Given the description of an element on the screen output the (x, y) to click on. 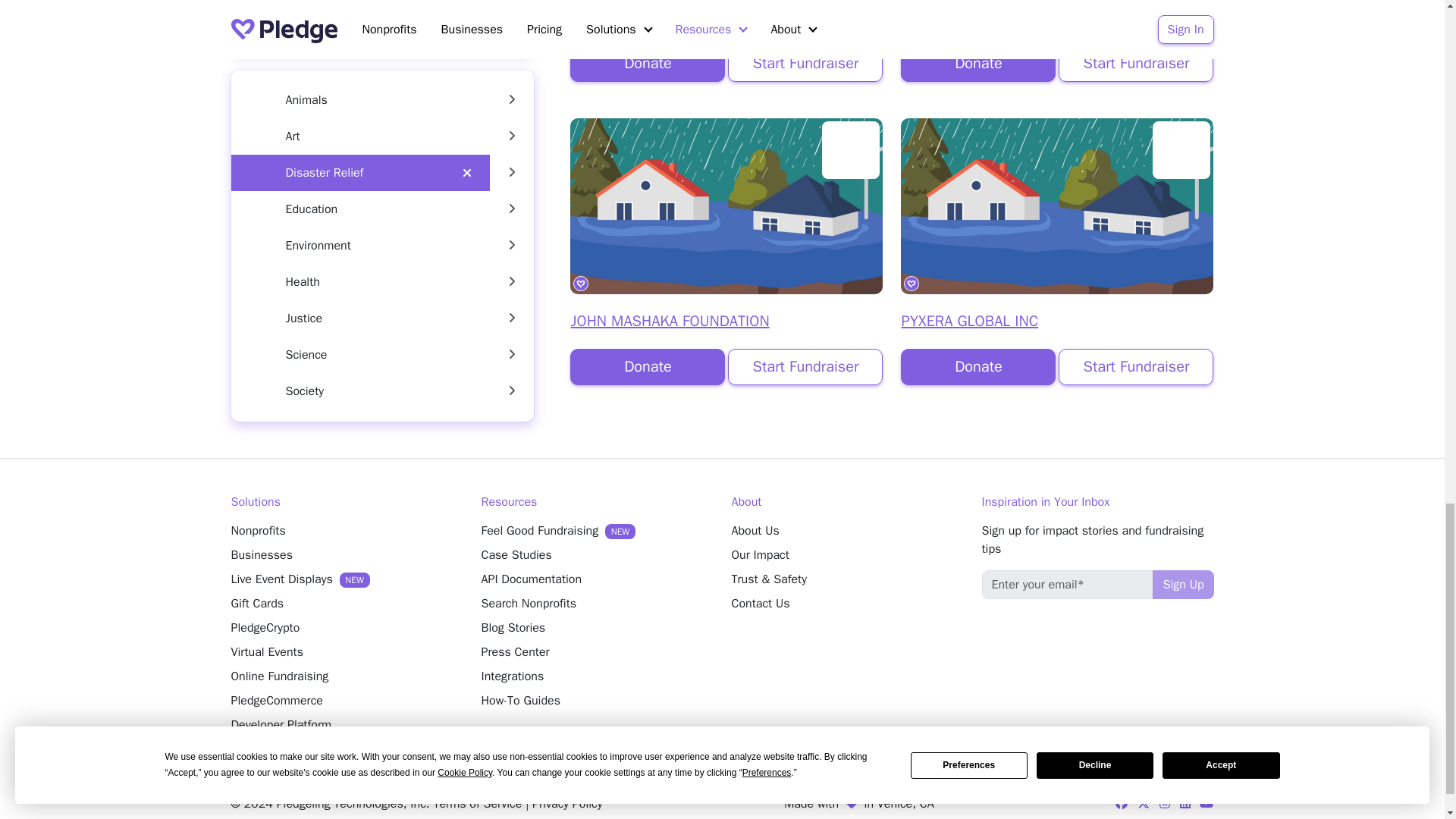
Sign Up (1182, 584)
